Given the description of an element on the screen output the (x, y) to click on. 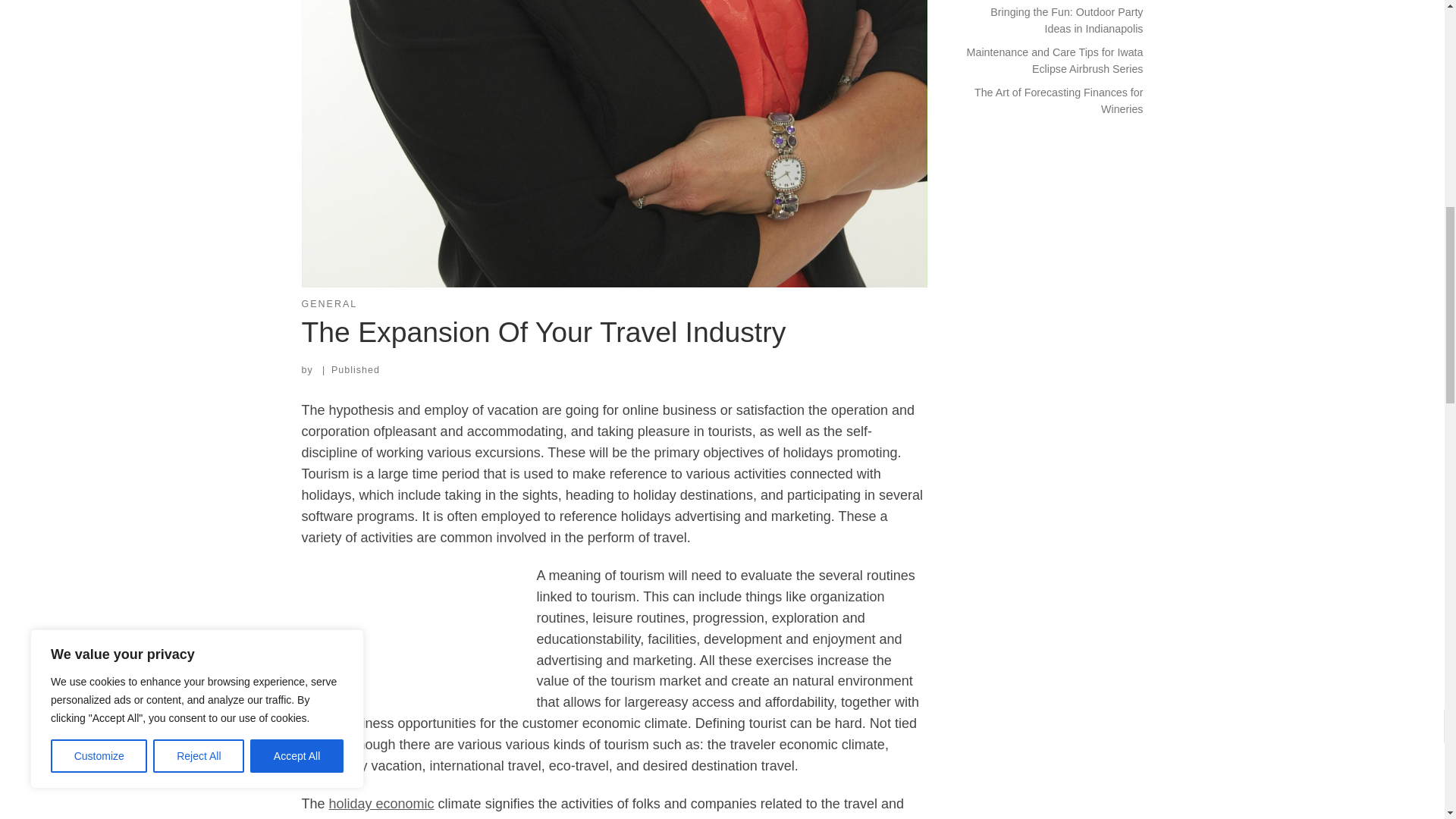
holiday economic (381, 803)
View all posts in General (329, 304)
GENERAL (329, 304)
